Given the description of an element on the screen output the (x, y) to click on. 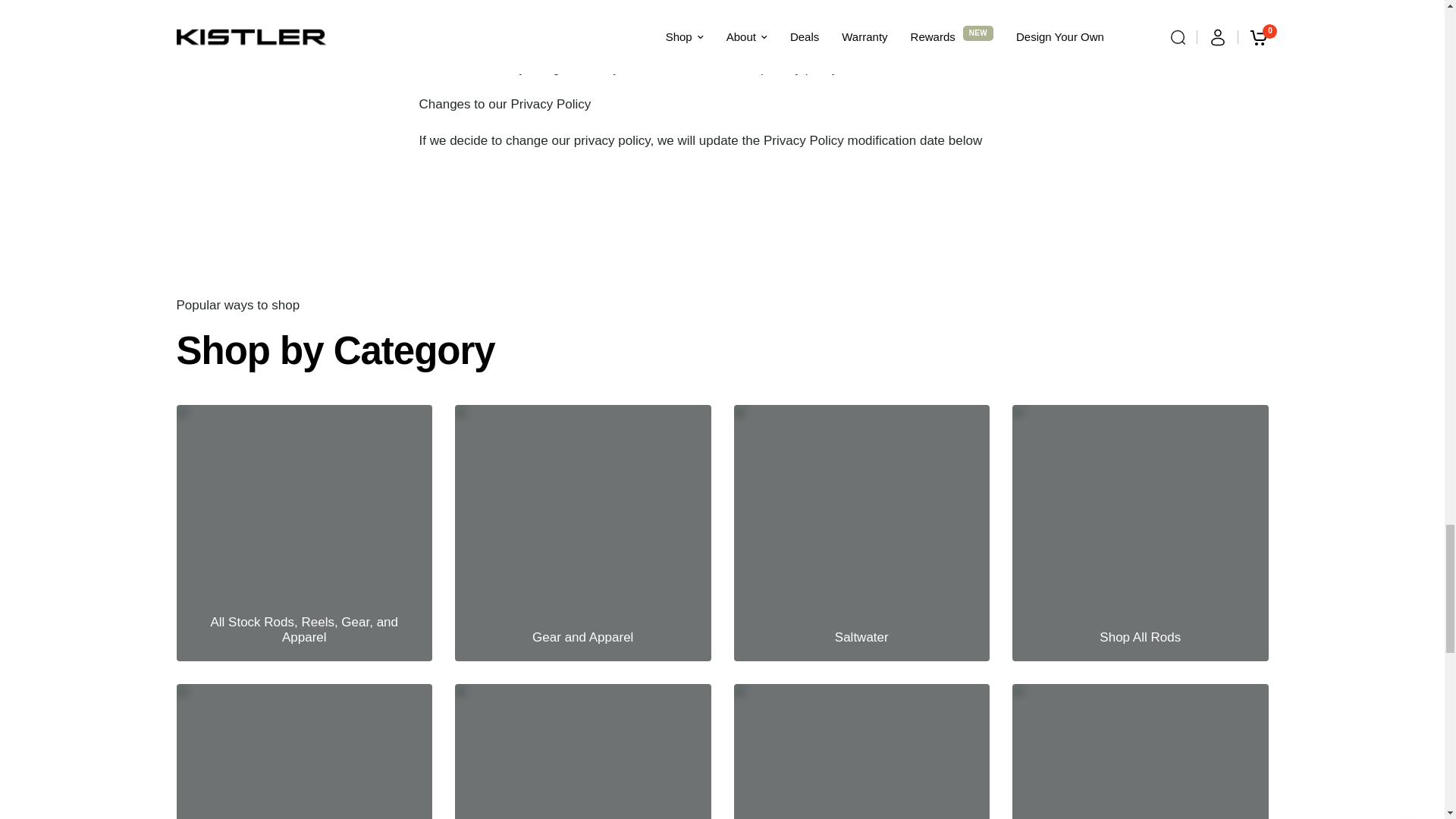
Gear and Apparel (582, 533)
All Stock Rods, Reels, Gear, and Apparel (303, 533)
